Given the description of an element on the screen output the (x, y) to click on. 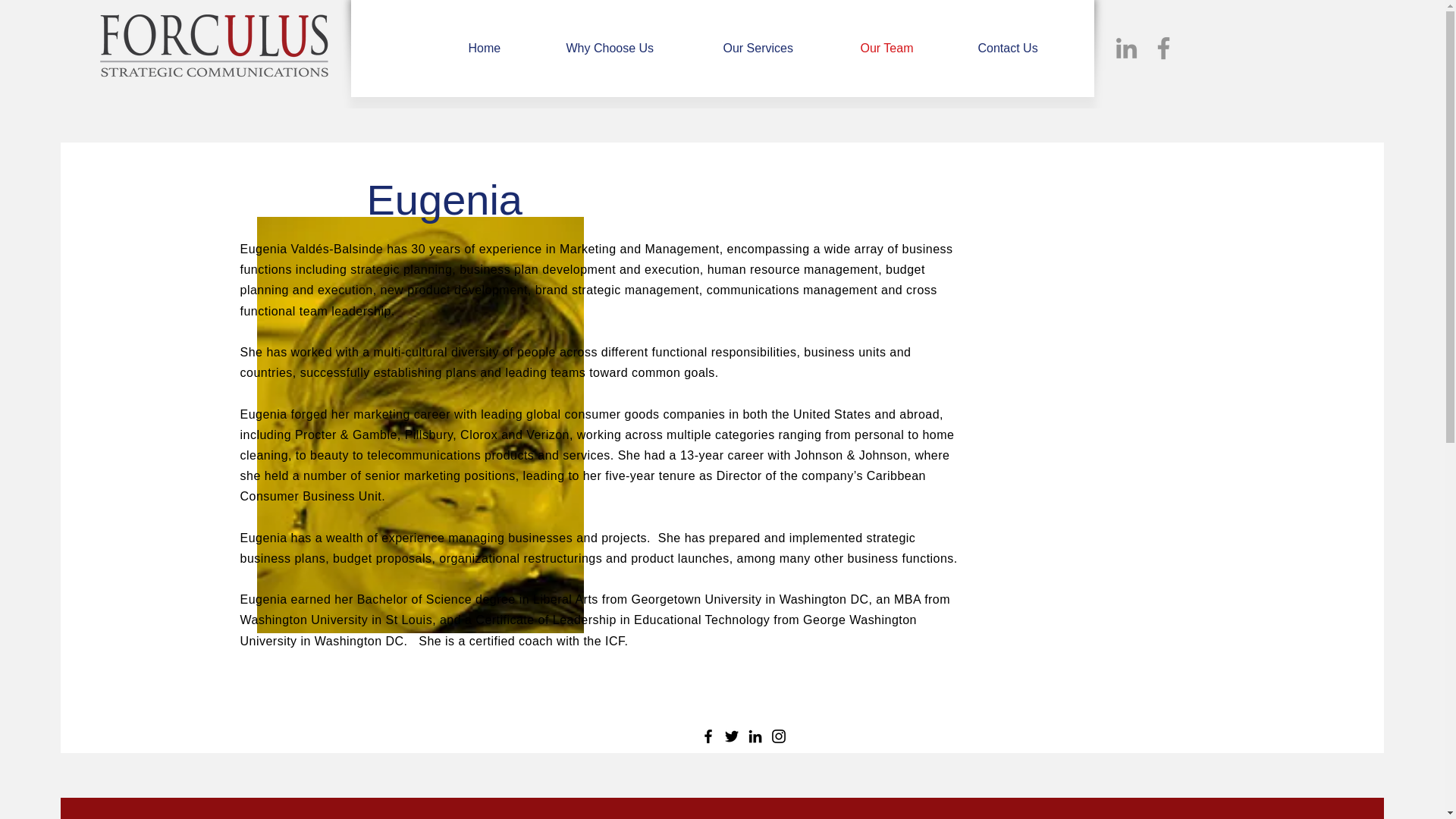
Our Services (779, 48)
Home (505, 48)
Contact Us (1029, 48)
Why Choose Us (632, 48)
Our Team (907, 48)
